Given the description of an element on the screen output the (x, y) to click on. 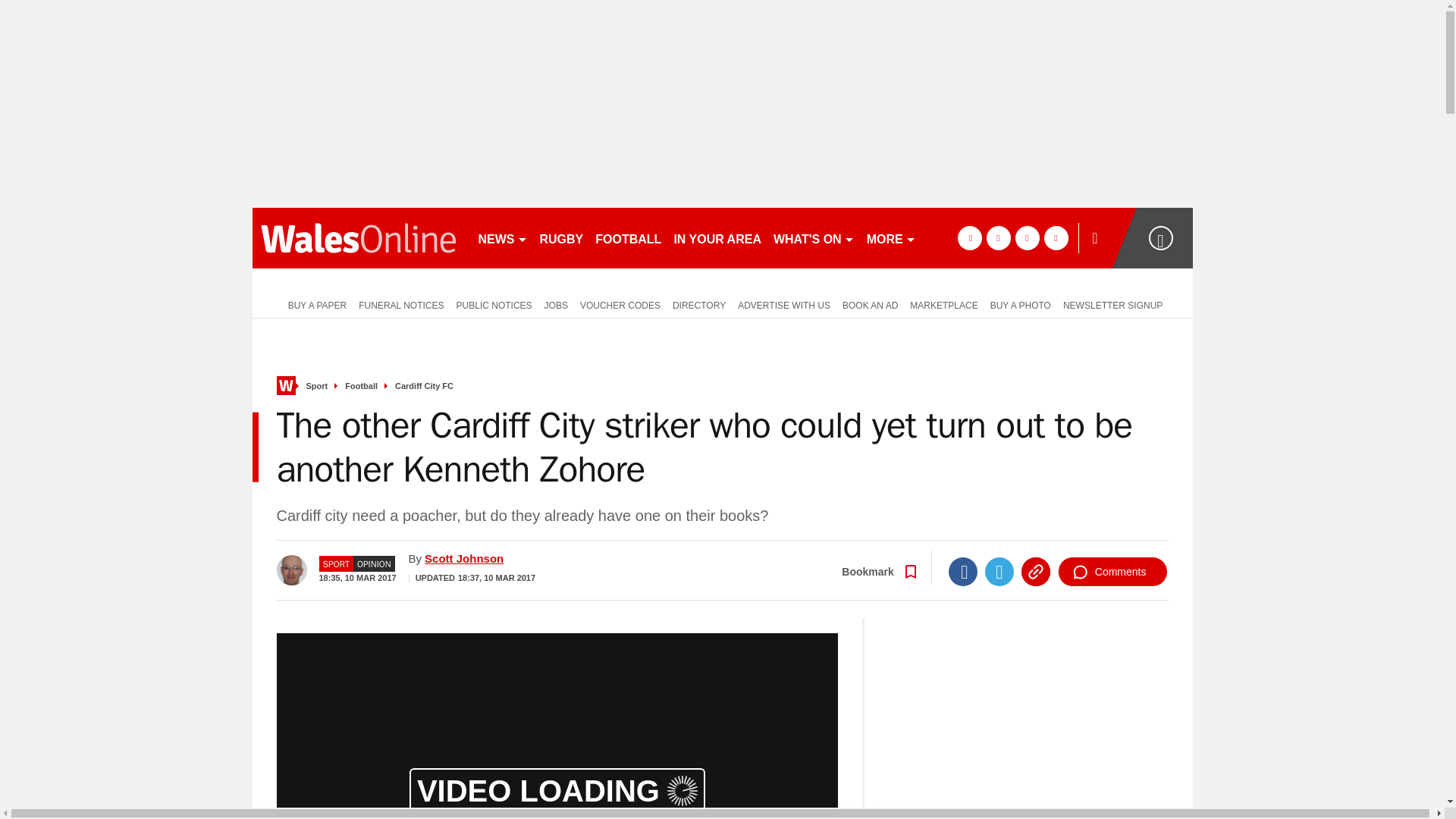
Twitter (999, 571)
NEWS (501, 238)
Facebook (962, 571)
WHAT'S ON (813, 238)
Comments (1112, 571)
twitter (997, 238)
MORE (890, 238)
walesonline (357, 238)
pinterest (1026, 238)
instagram (1055, 238)
